Given the description of an element on the screen output the (x, y) to click on. 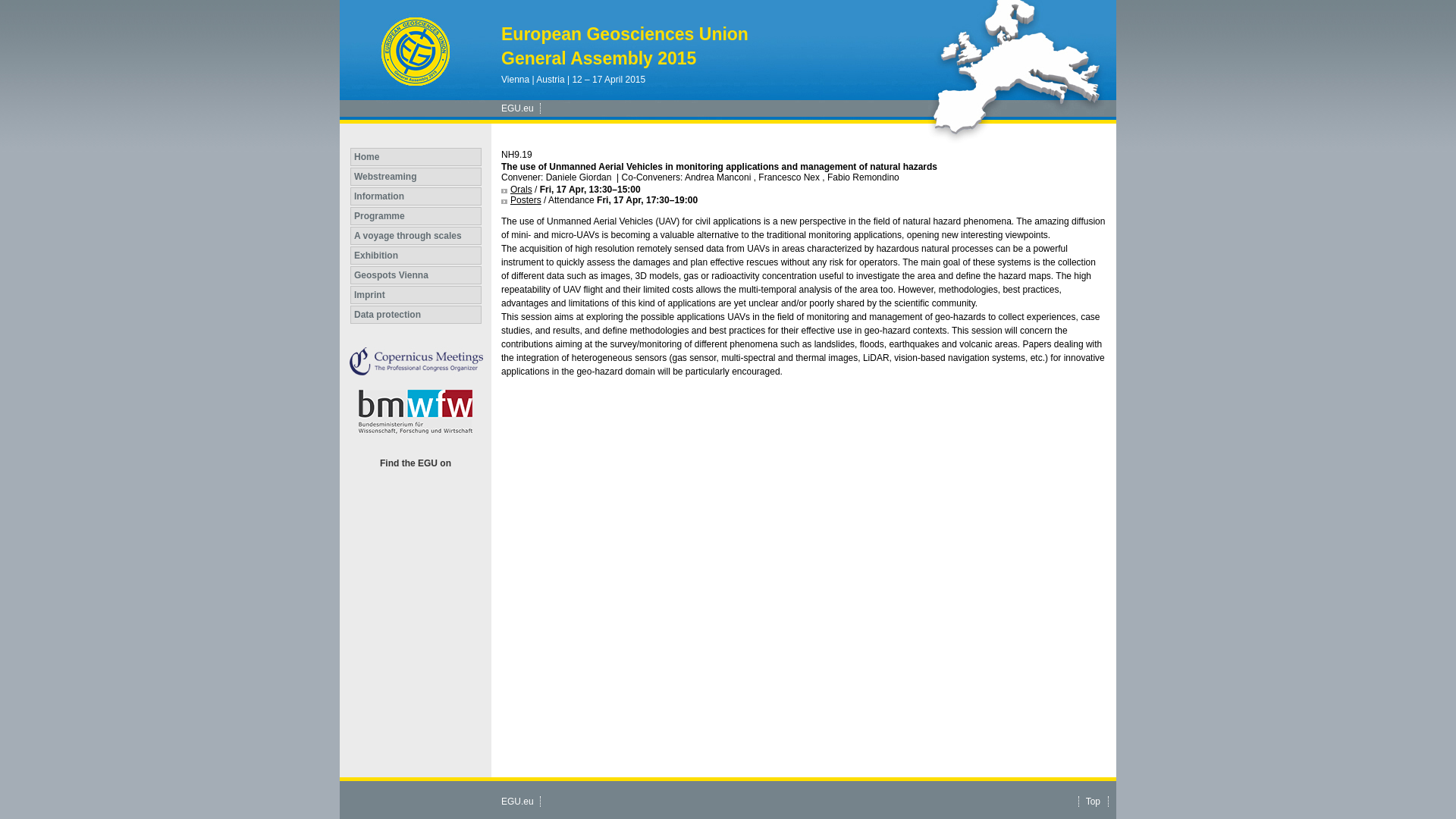
Exhibition (415, 255)
EGU.eu (517, 108)
Home (415, 157)
Orals (516, 189)
Webstreaming (415, 176)
Posters (520, 199)
Data protection (415, 314)
Information (415, 196)
EGU.eu (517, 801)
Top (1093, 801)
Imprint (415, 294)
Geospots Vienna (415, 275)
A voyage through scales (415, 235)
Programme (415, 216)
